Given the description of an element on the screen output the (x, y) to click on. 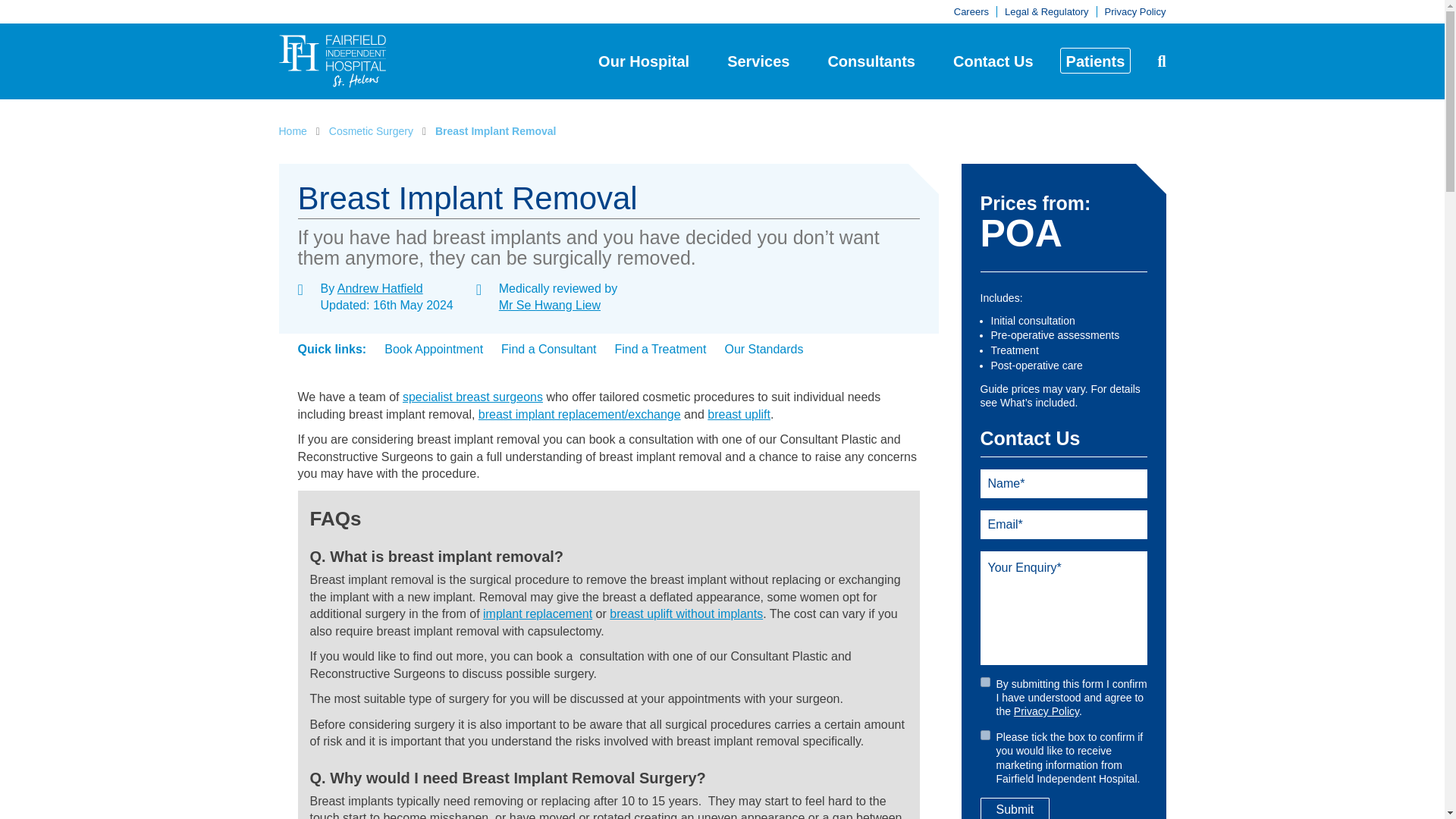
Submit (1014, 808)
Our Hospital (643, 61)
Careers (970, 11)
Return to homepage (333, 61)
Services (757, 61)
Privacy Policy (1135, 11)
